Given the description of an element on the screen output the (x, y) to click on. 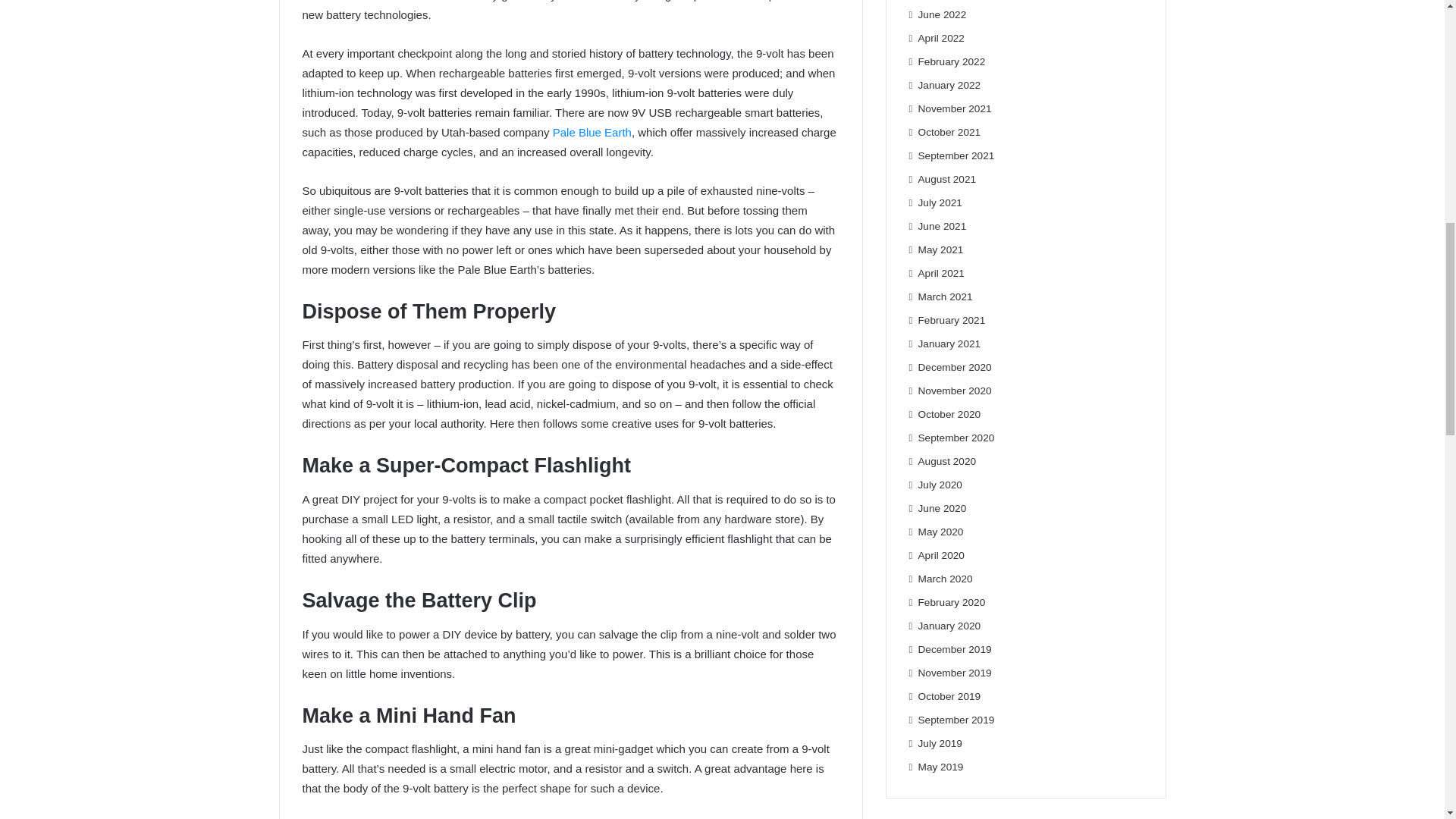
Pale Blue Earth (592, 132)
